Given the description of an element on the screen output the (x, y) to click on. 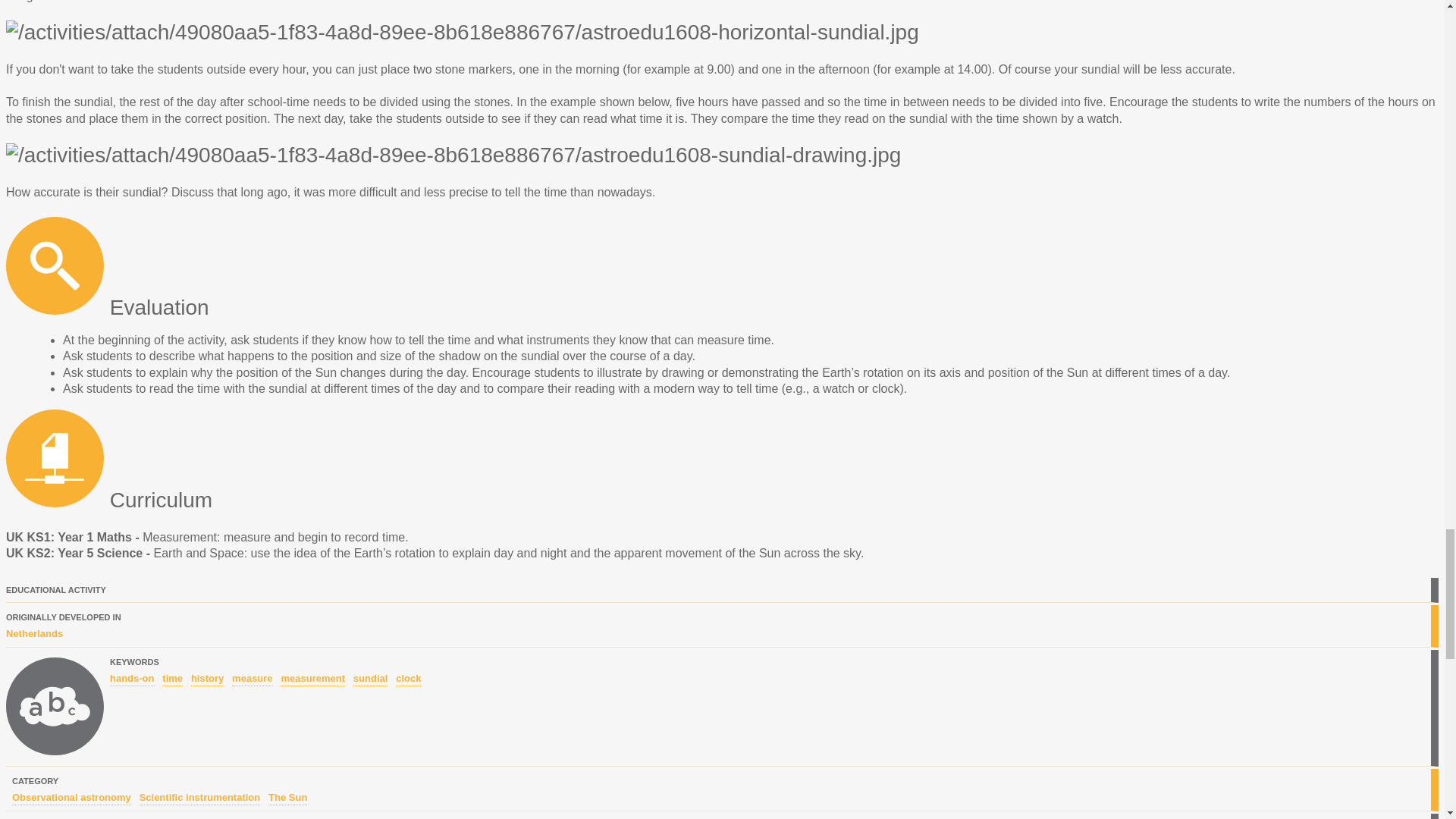
time (172, 679)
Observational astronomy (71, 798)
Scientific instrumentation (199, 798)
history (207, 679)
measurement (313, 679)
clock (408, 679)
hands-on (132, 679)
The Sun (287, 798)
measure (251, 679)
sundial (370, 679)
